Given the description of an element on the screen output the (x, y) to click on. 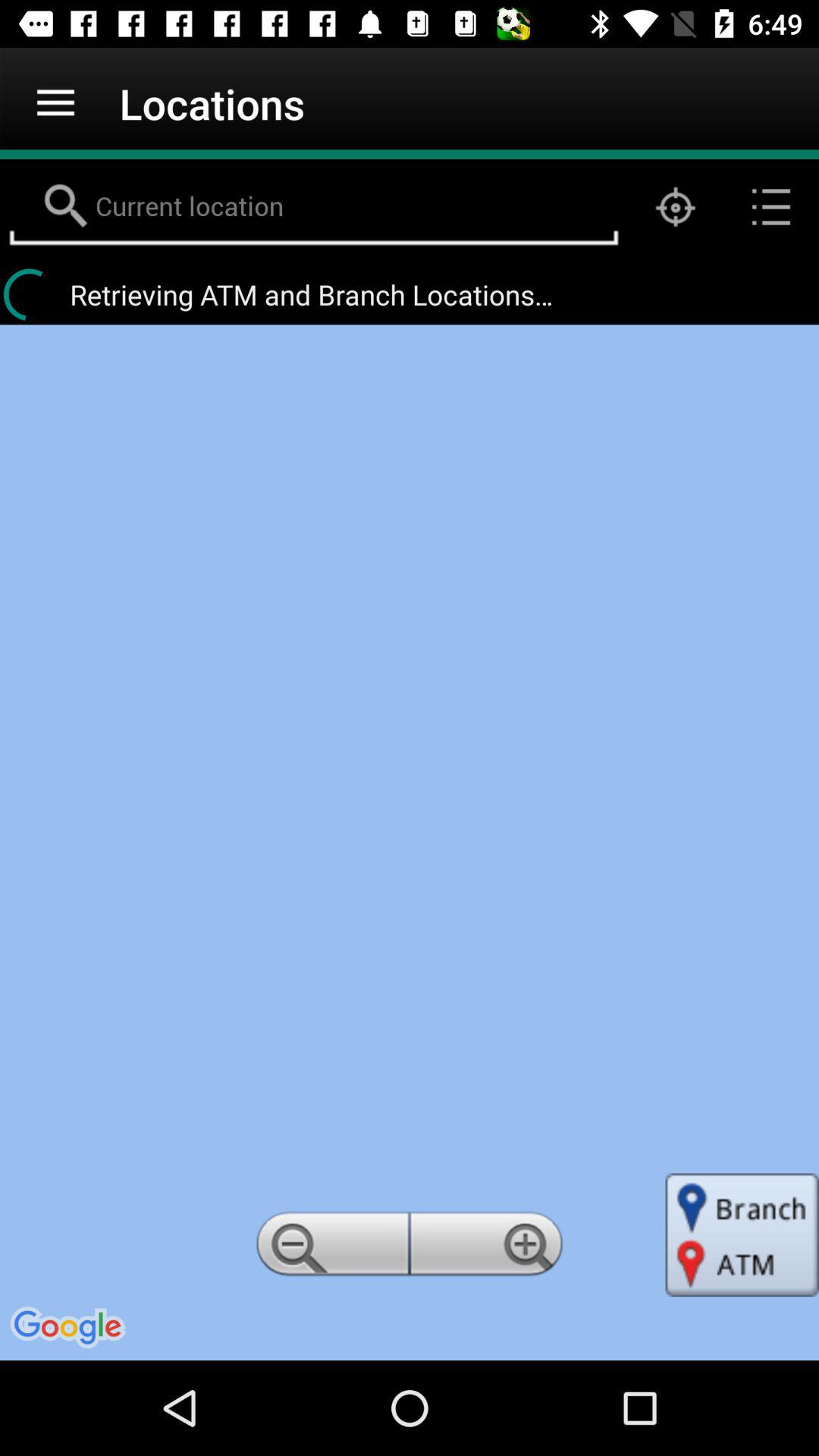
choose the item to the left of the locations item (55, 103)
